Given the description of an element on the screen output the (x, y) to click on. 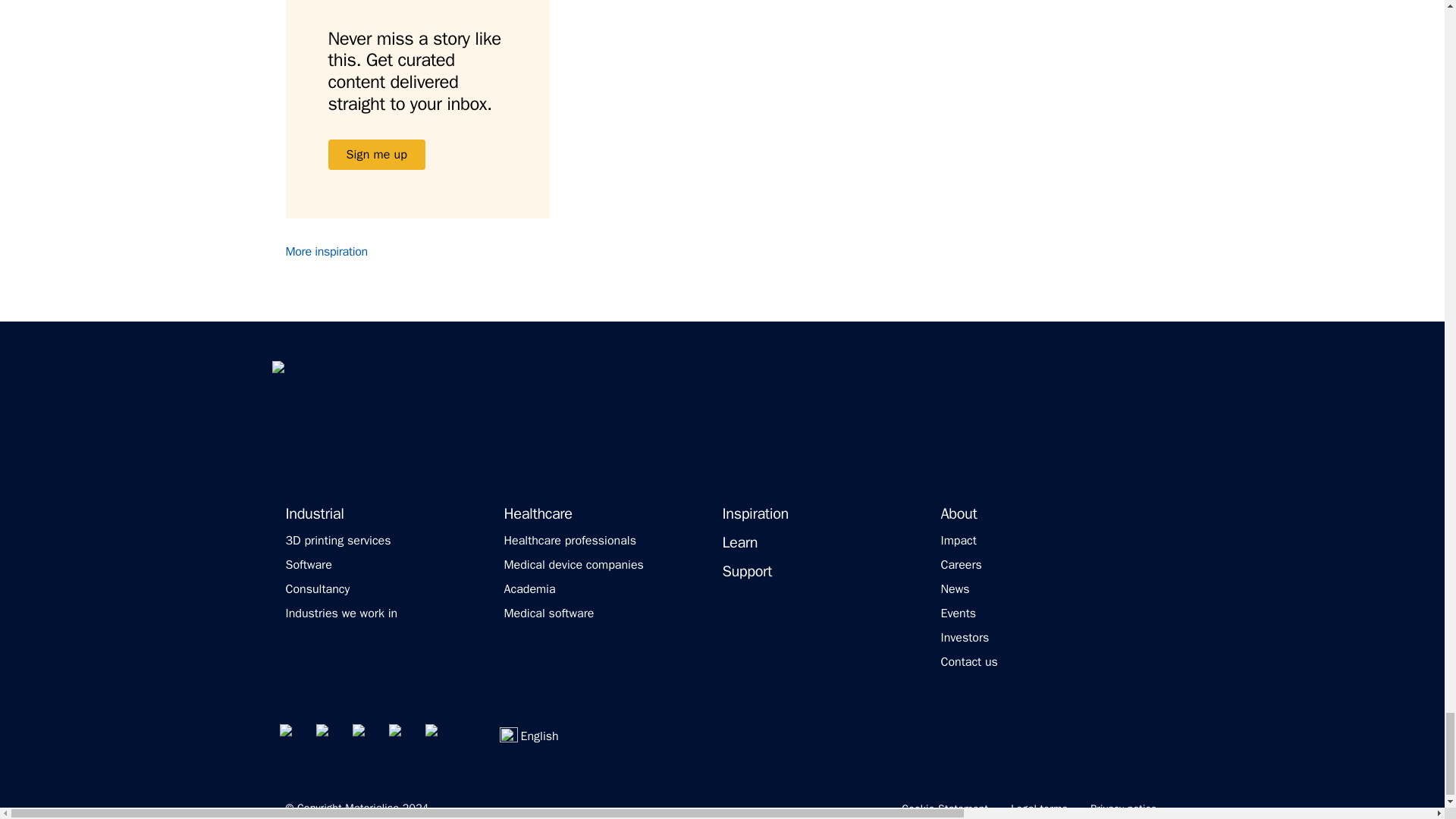
Sign me up (376, 154)
Industrial (314, 514)
Medical software (548, 613)
Medical device companies (573, 564)
Industries we work in (341, 613)
Inspiration (754, 514)
Academia (528, 589)
3D printing services (337, 540)
Healthcare professionals (568, 540)
Healthcare (537, 514)
